Given the description of an element on the screen output the (x, y) to click on. 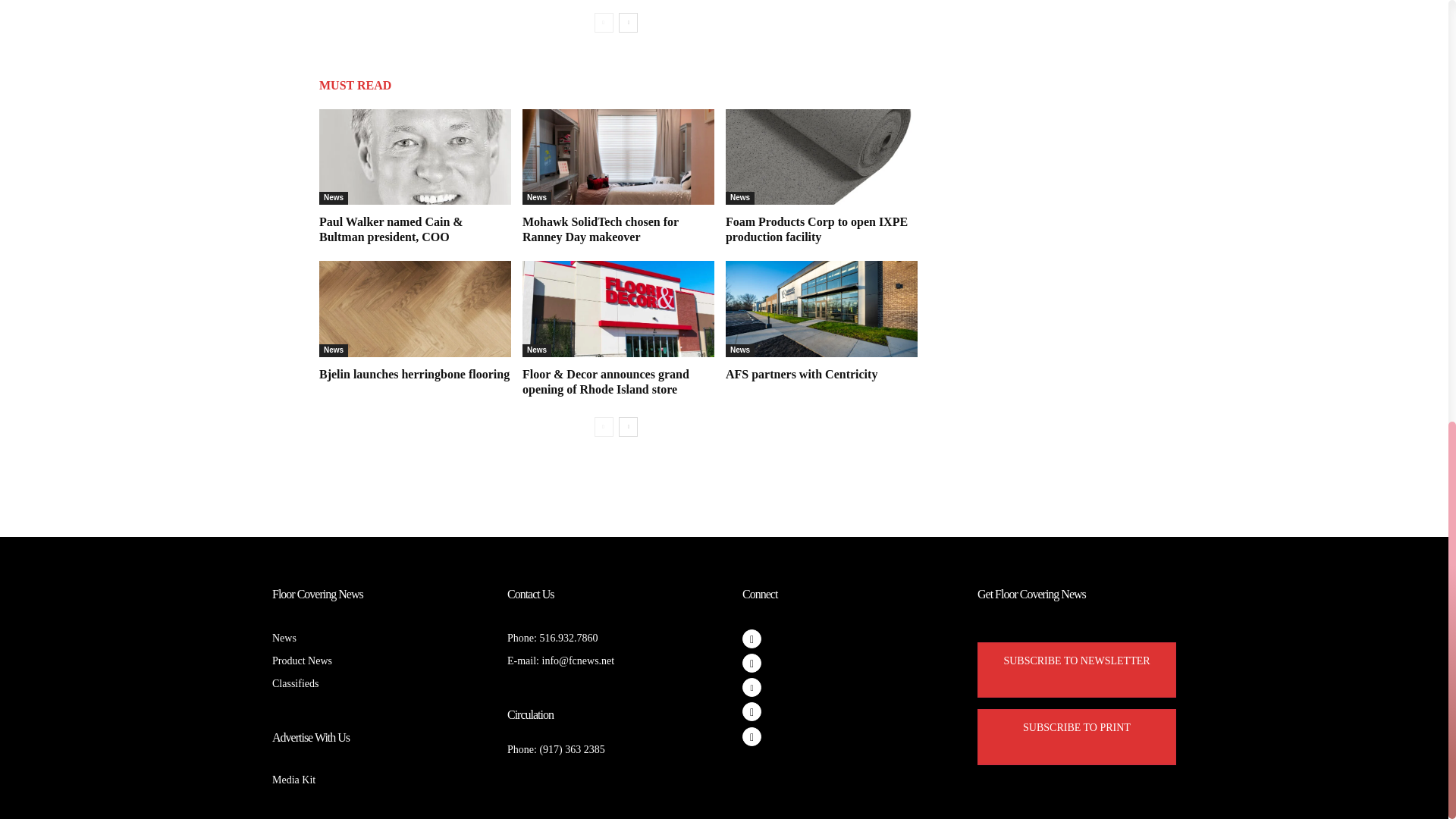
Foam Products Corp to open IXPE production facility (821, 156)
Mohawk SolidTech chosen for Ranney Day makeover (600, 229)
Mohawk SolidTech chosen for Ranney Day makeover (618, 156)
